Given the description of an element on the screen output the (x, y) to click on. 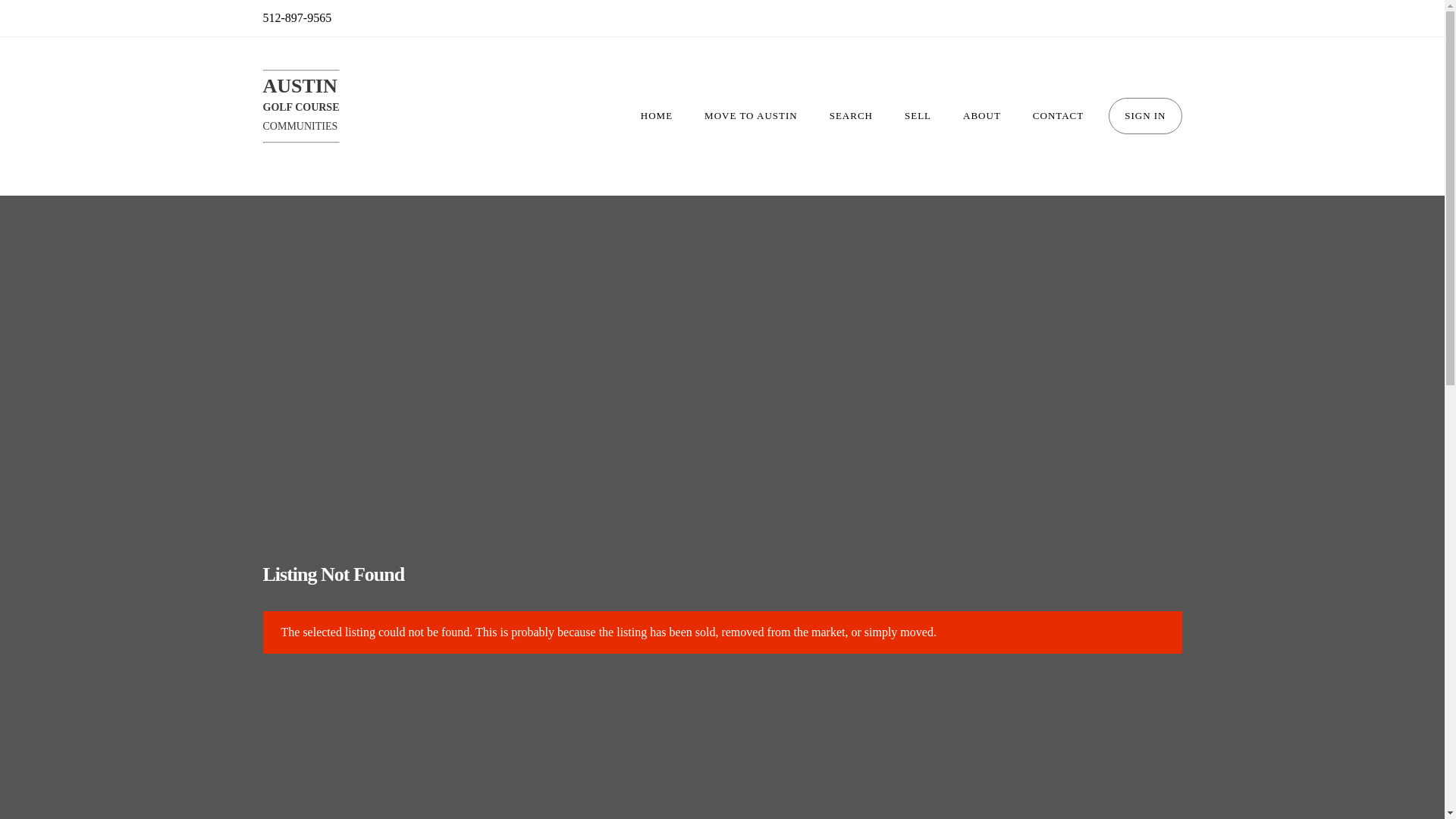
CONTACT (1057, 115)
SELL (917, 115)
HOME (656, 115)
SIGN IN (1144, 115)
SEARCH (850, 115)
MOVE TO AUSTIN (300, 106)
ABOUT (750, 115)
512-897-9565 (981, 115)
